Given the description of an element on the screen output the (x, y) to click on. 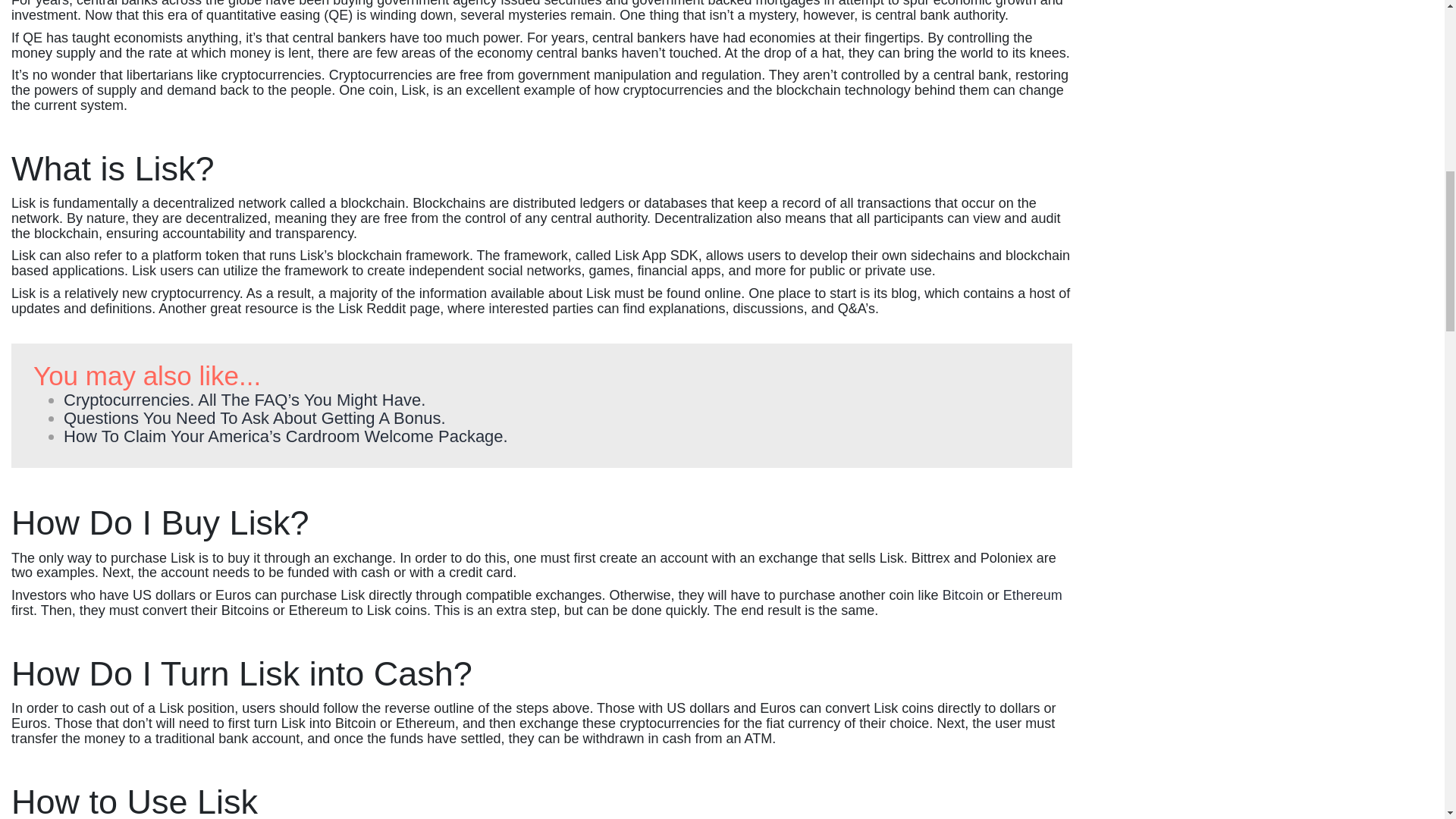
Bitcoin (963, 595)
Questions You Need To Ask About Getting A Bonus. (254, 417)
Bitcoin (963, 595)
Ethereum (1032, 595)
Ethereum (1032, 595)
